Given the description of an element on the screen output the (x, y) to click on. 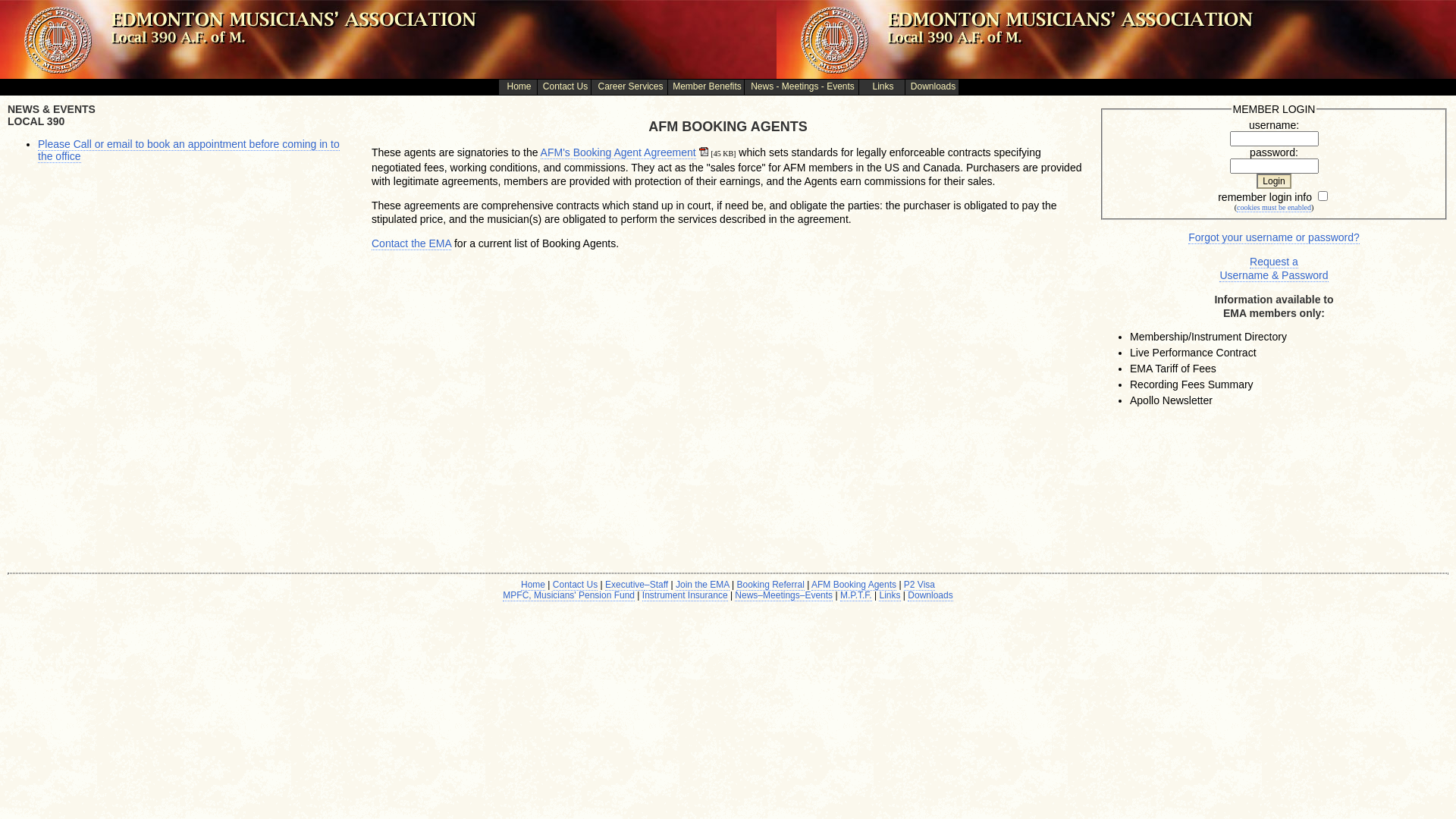
Request a
Username & Password Element type: text (1273, 268)
Staff Element type: text (658, 584)
M.P.T.F. Element type: text (856, 595)
MPFC, Musicians' Pension Fund Element type: text (568, 595)
Forgot your username or password? Element type: text (1273, 237)
Instrument Insurance Element type: text (685, 595)
Login Element type: text (1273, 180)
Downloads Element type: text (929, 595)
Contact the EMA Element type: text (411, 243)
cookies must be enabled Element type: text (1273, 207)
Contact Us Element type: text (574, 584)
Booking Referral Element type: text (769, 584)
AFM's Booking Agent Agreement Element type: text (618, 152)
Executive Element type: text (624, 584)
AFM Booking Agents Element type: text (853, 584)
Links Element type: text (889, 595)
Home Element type: text (532, 584)
P2 Visa Element type: text (919, 584)
Join the EMA Element type: text (702, 584)
